Given the description of an element on the screen output the (x, y) to click on. 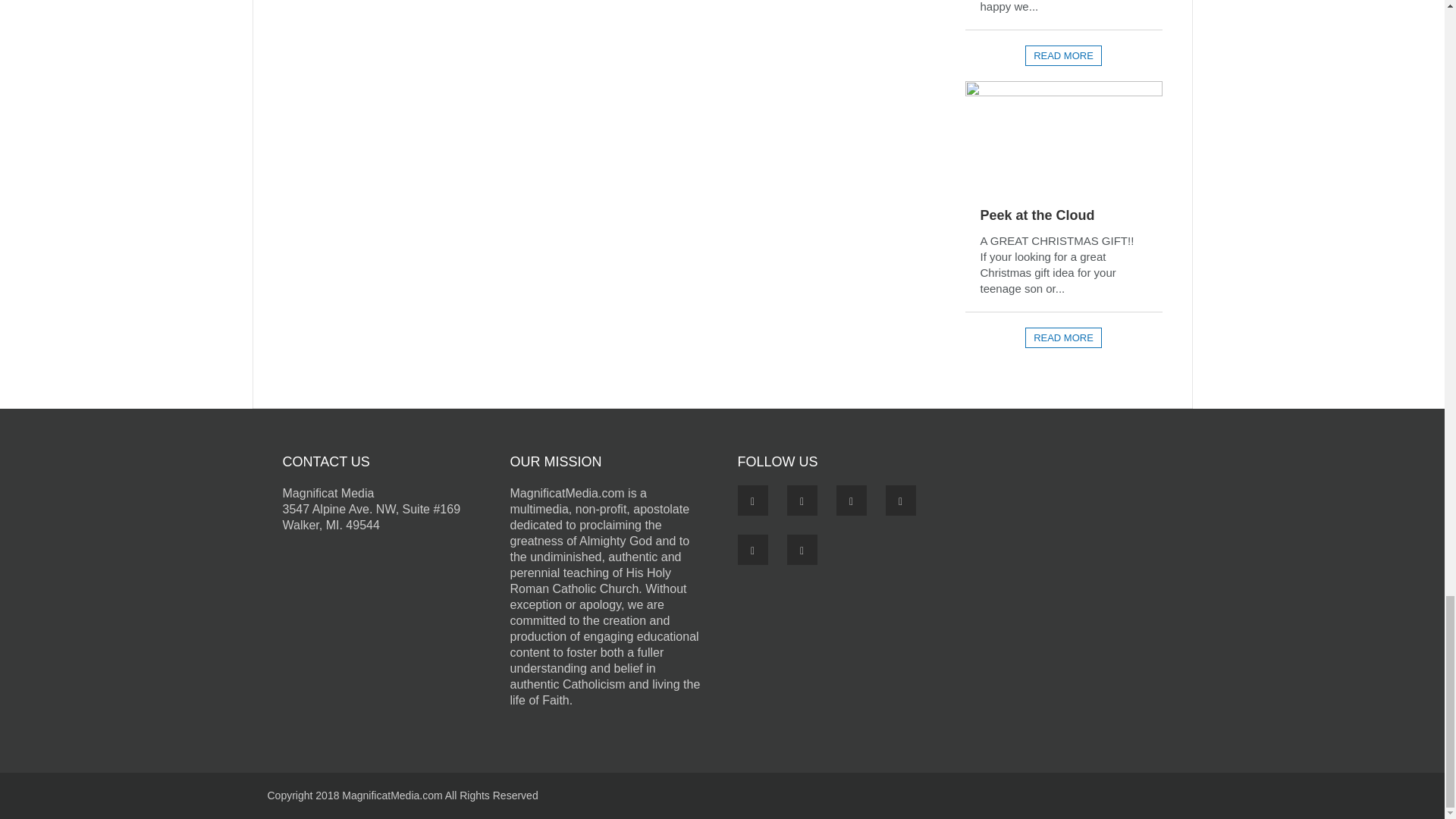
Read more (1063, 55)
